Given the description of an element on the screen output the (x, y) to click on. 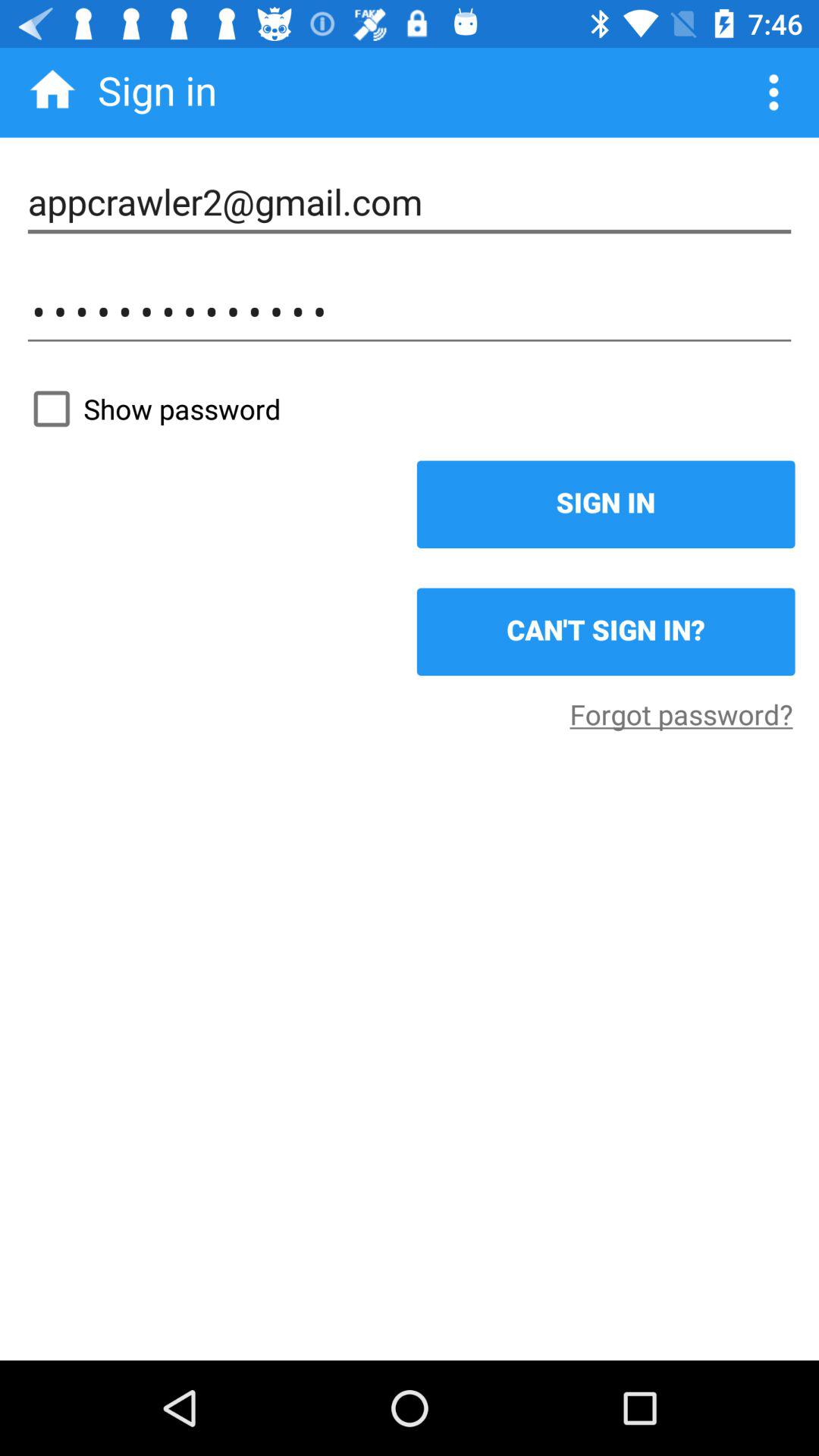
jump until show password (409, 408)
